Given the description of an element on the screen output the (x, y) to click on. 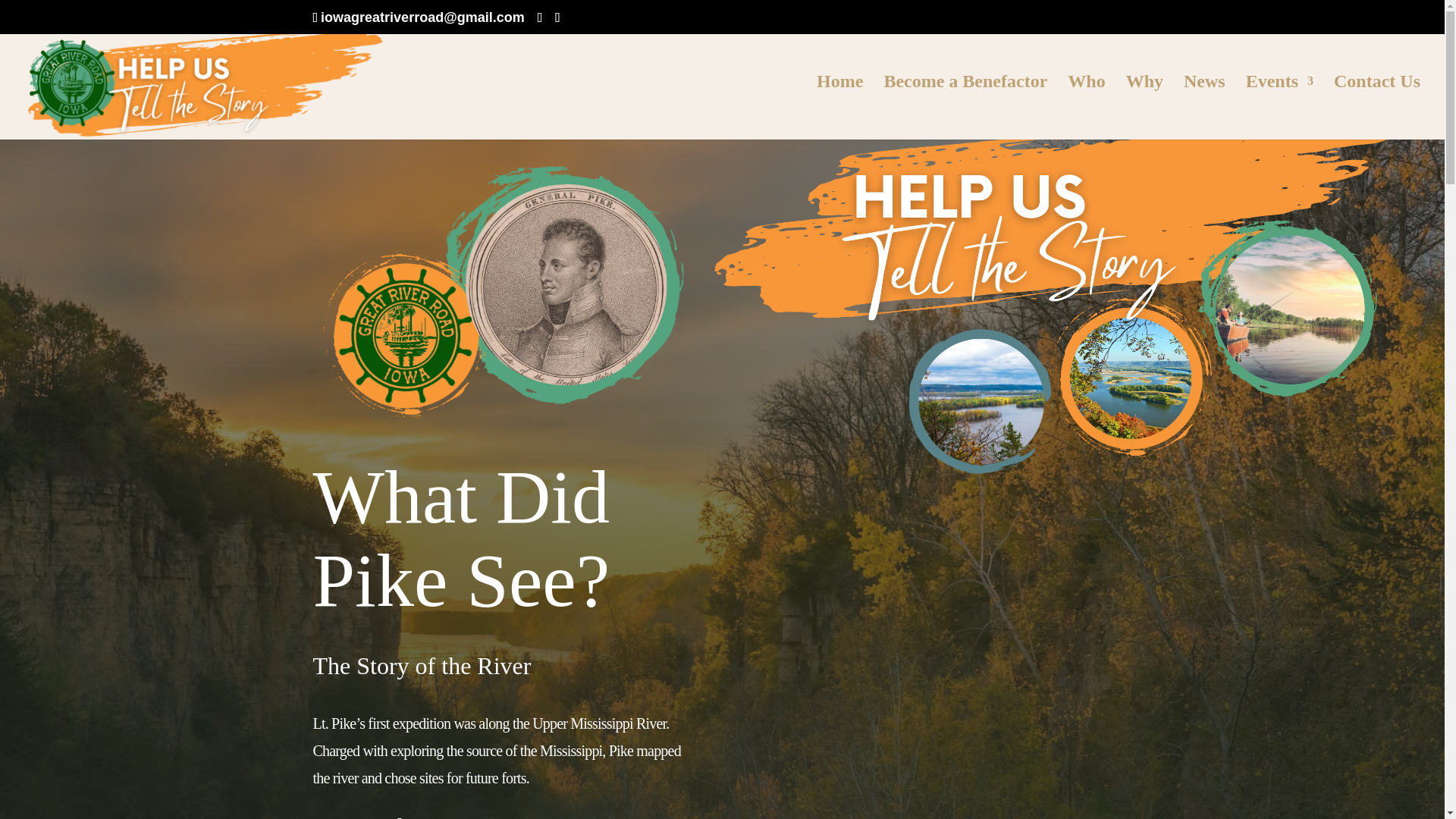
Events (1279, 107)
Contact Us (1377, 107)
Become a Benefactor (964, 107)
